Given the description of an element on the screen output the (x, y) to click on. 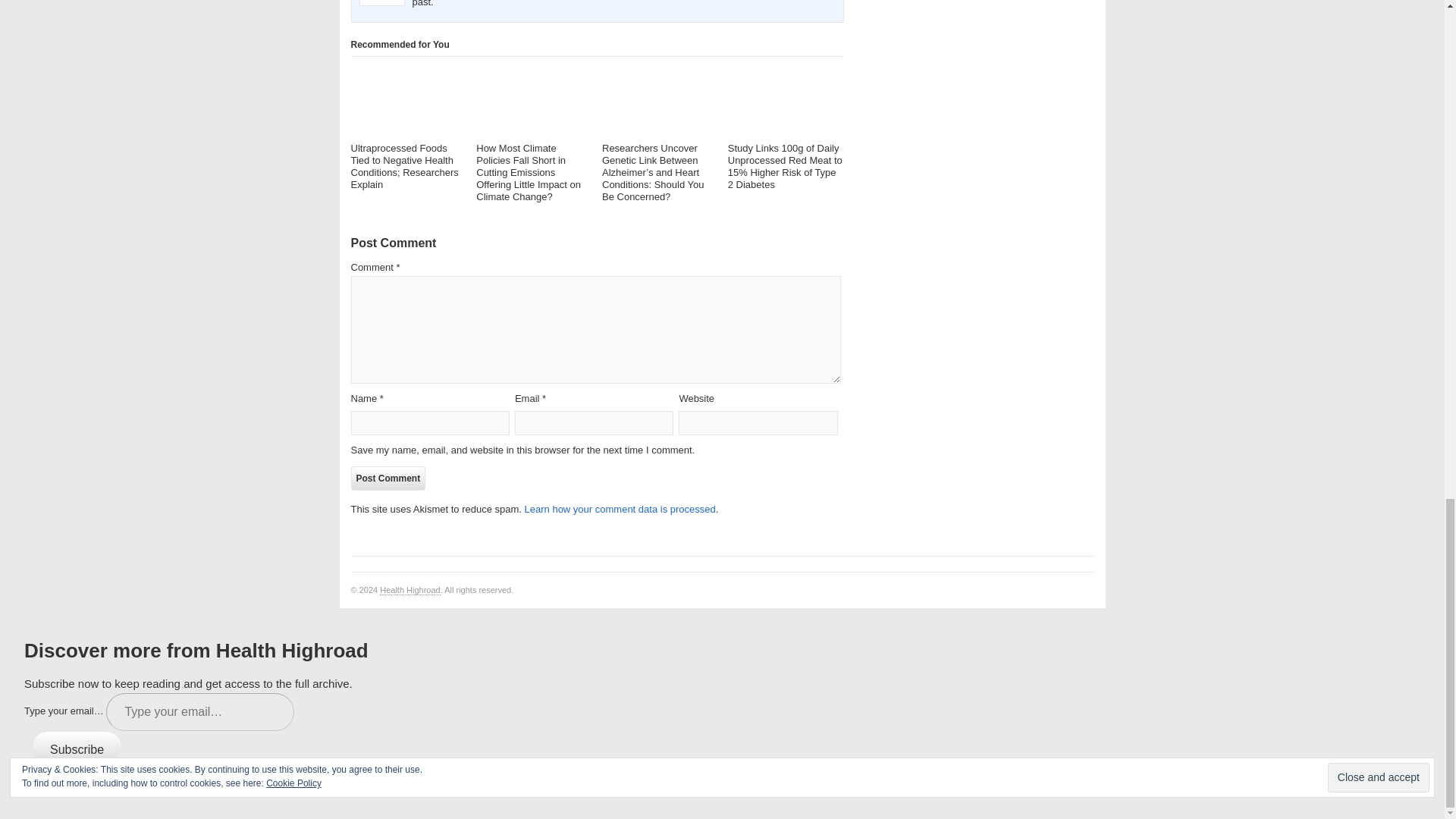
Post Comment (387, 478)
Please fill in this field. (200, 711)
Your Highroad to Health (410, 590)
